Given the description of an element on the screen output the (x, y) to click on. 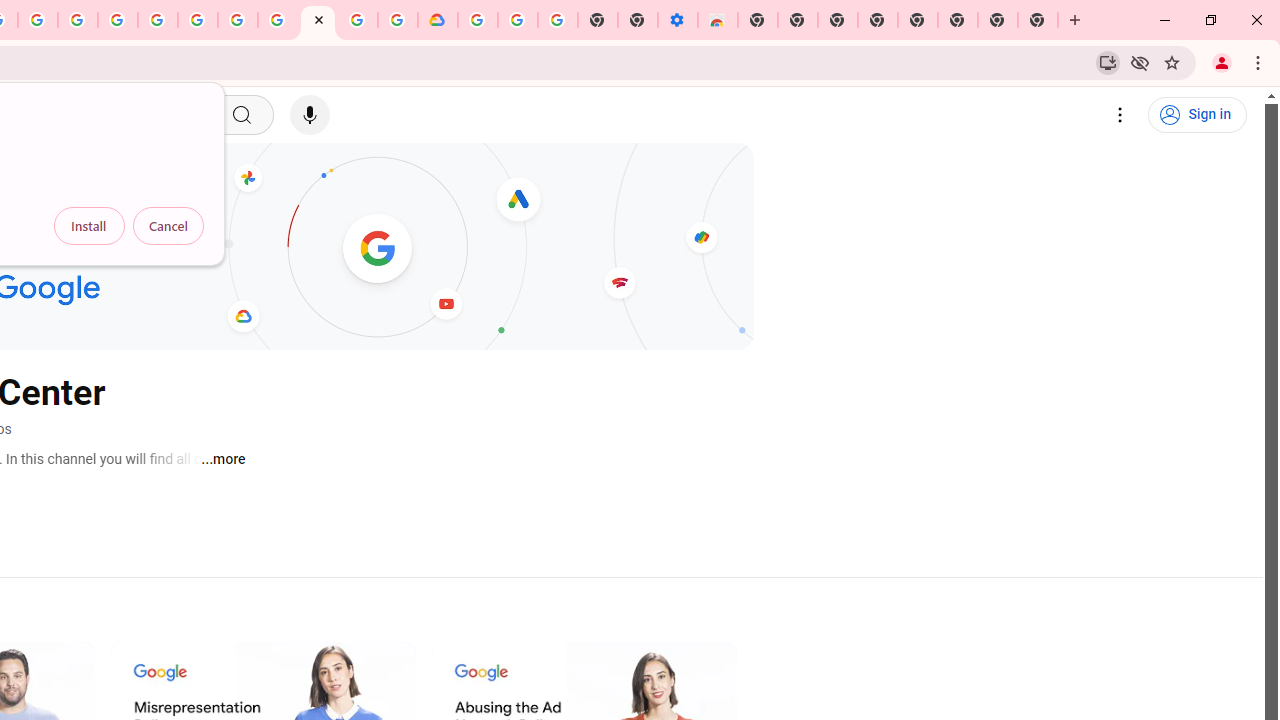
Browse the Google Chrome Community - Google Chrome Community (397, 20)
Turn cookies on or off - Computer - Google Account Help (557, 20)
Ad Settings (118, 20)
